Given the description of an element on the screen output the (x, y) to click on. 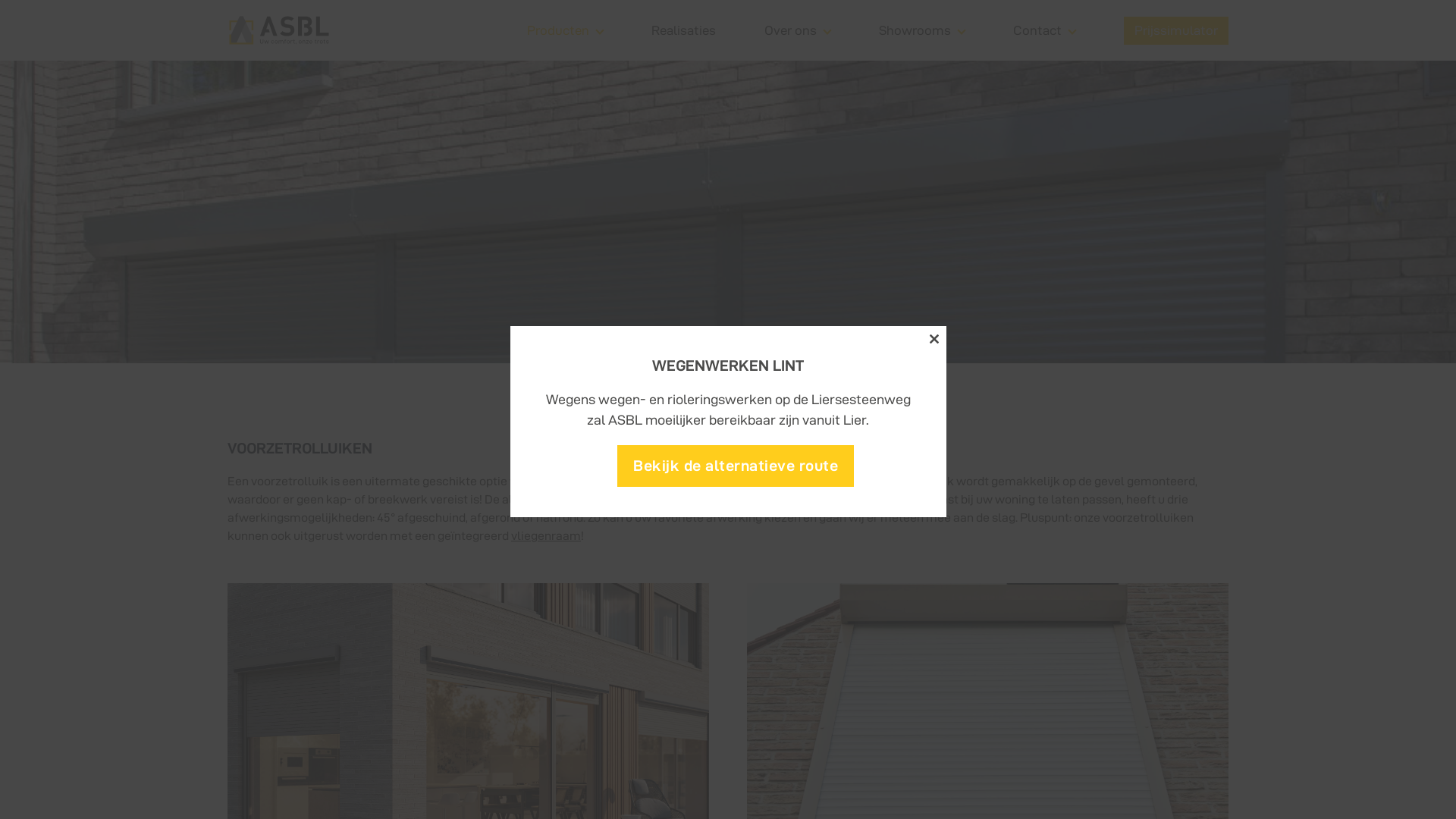
vliegenraam Element type: text (545, 535)
CLOSE THIS MODULE Element type: text (934, 338)
Producten Element type: text (558, 29)
Bekijk de alternatieve route Element type: text (735, 465)
Contact Element type: text (1037, 29)
Realisaties Element type: text (683, 29)
Over ons Element type: text (790, 29)
Showrooms Element type: text (914, 29)
Prijssimulator Element type: text (1175, 30)
